Given the description of an element on the screen output the (x, y) to click on. 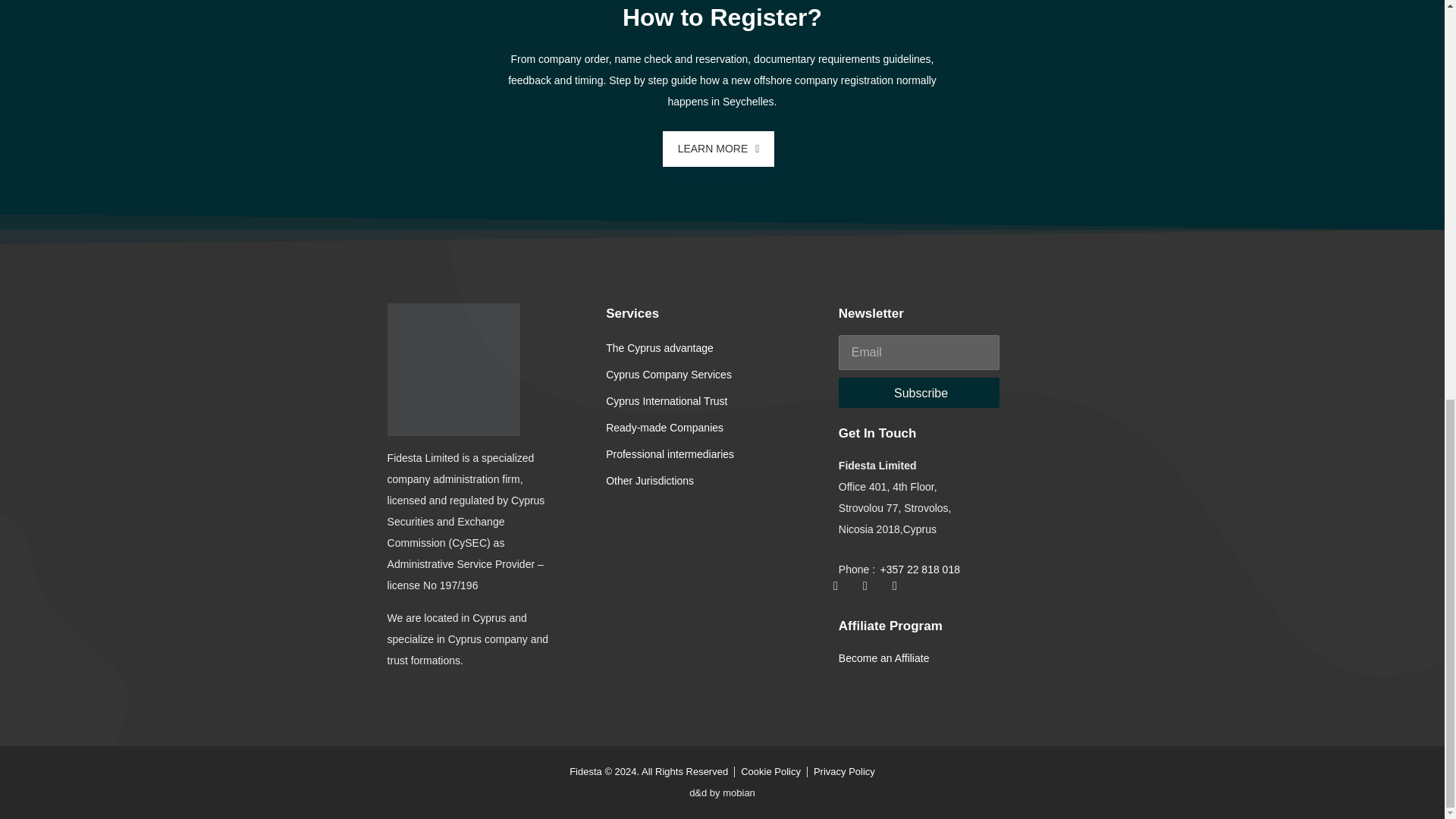
Find us on LinkedIn (841, 591)
Find us on LinkedIn (900, 591)
Find us on LinkedIn (871, 591)
